Given the description of an element on the screen output the (x, y) to click on. 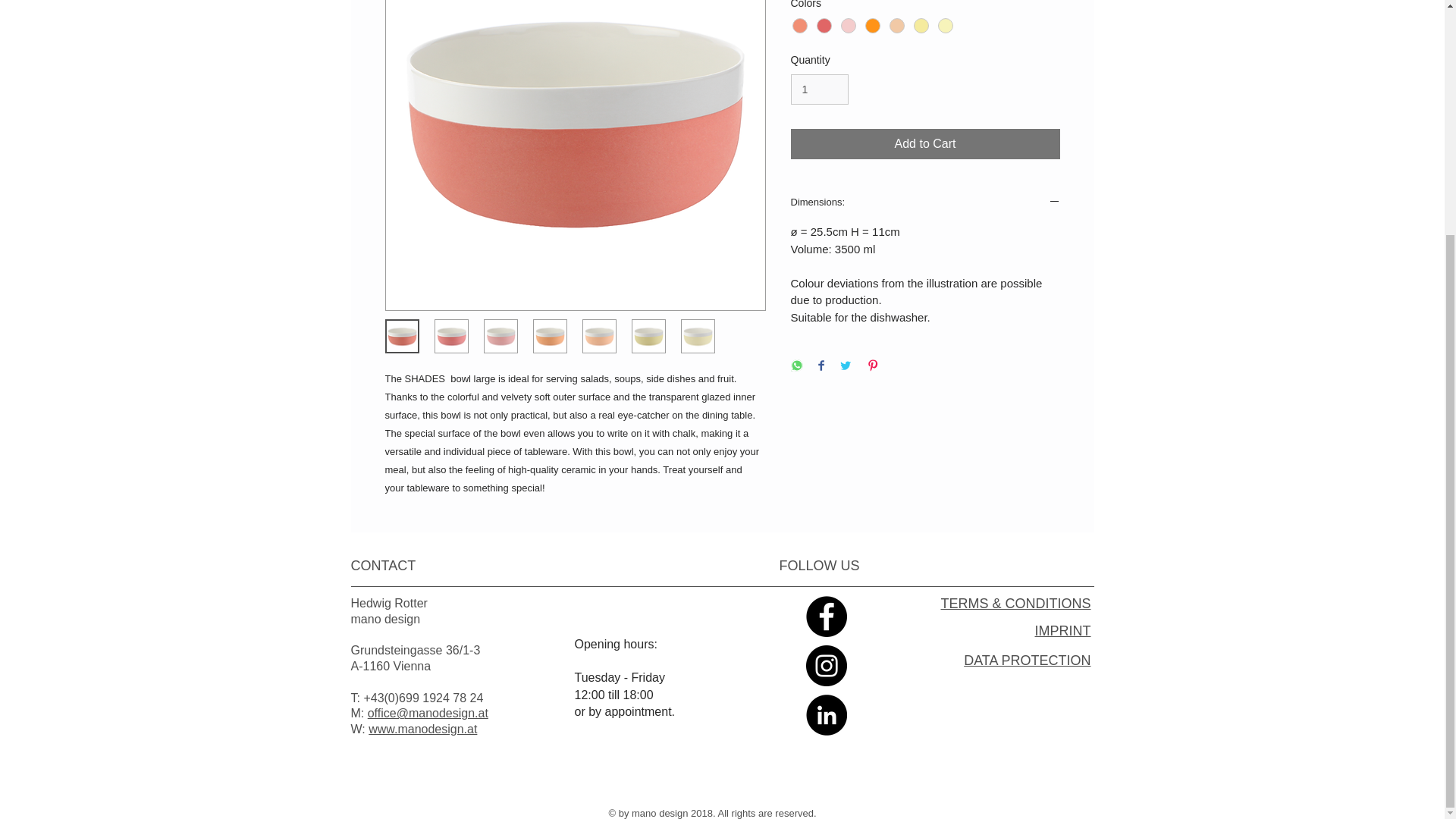
Add to Cart (924, 143)
www.manodesign.at (422, 728)
1 (818, 89)
DATA PROTECTION (1026, 660)
IMPRINT (1061, 630)
Dimensions: (924, 202)
